Given the description of an element on the screen output the (x, y) to click on. 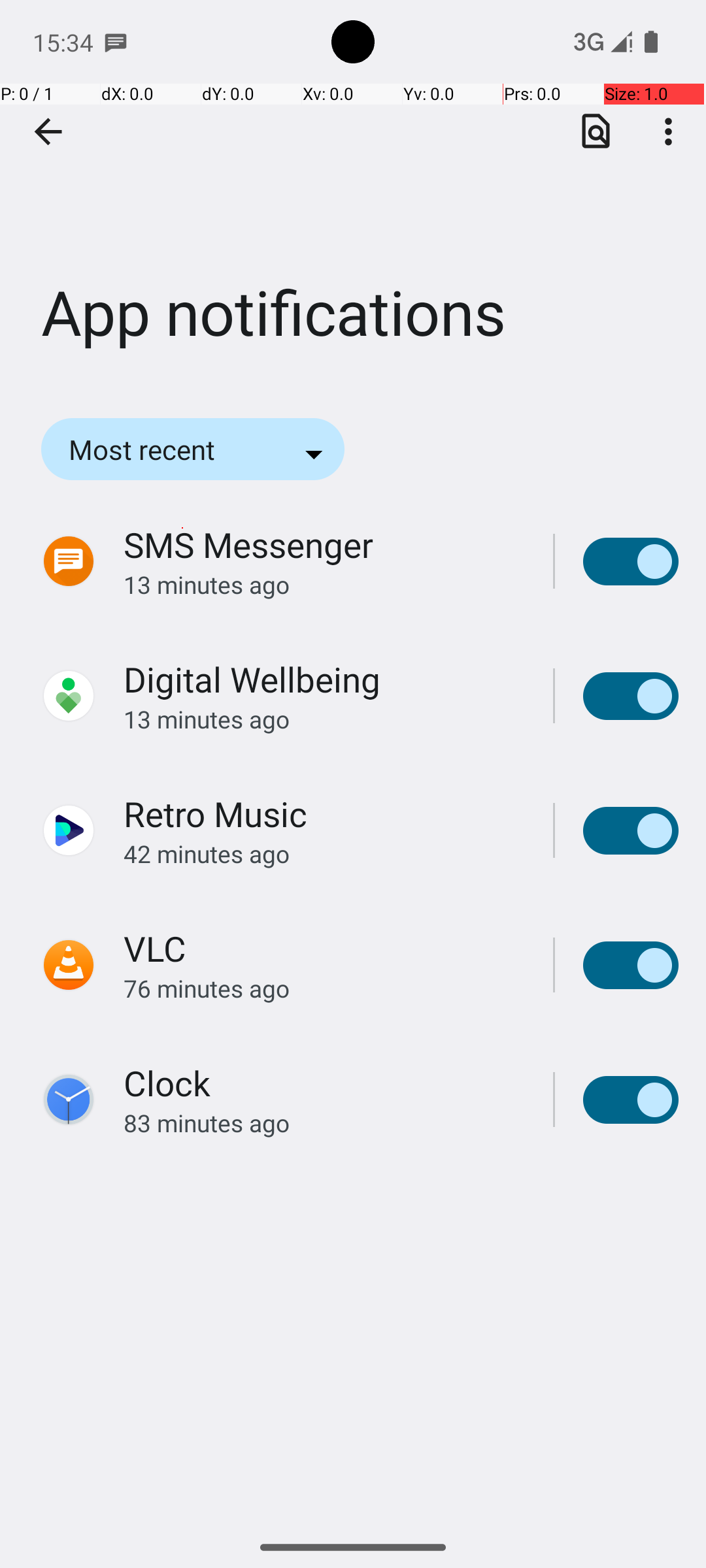
App notifications Element type: android.widget.FrameLayout (353, 195)
Most recent Element type: android.widget.TextView (159, 448)
13 minutes ago Element type: android.widget.TextView (324, 584)
Digital Wellbeing Element type: android.widget.TextView (252, 678)
42 minutes ago Element type: android.widget.TextView (324, 853)
76 minutes ago Element type: android.widget.TextView (324, 987)
83 minutes ago Element type: android.widget.TextView (324, 1122)
